Given the description of an element on the screen output the (x, y) to click on. 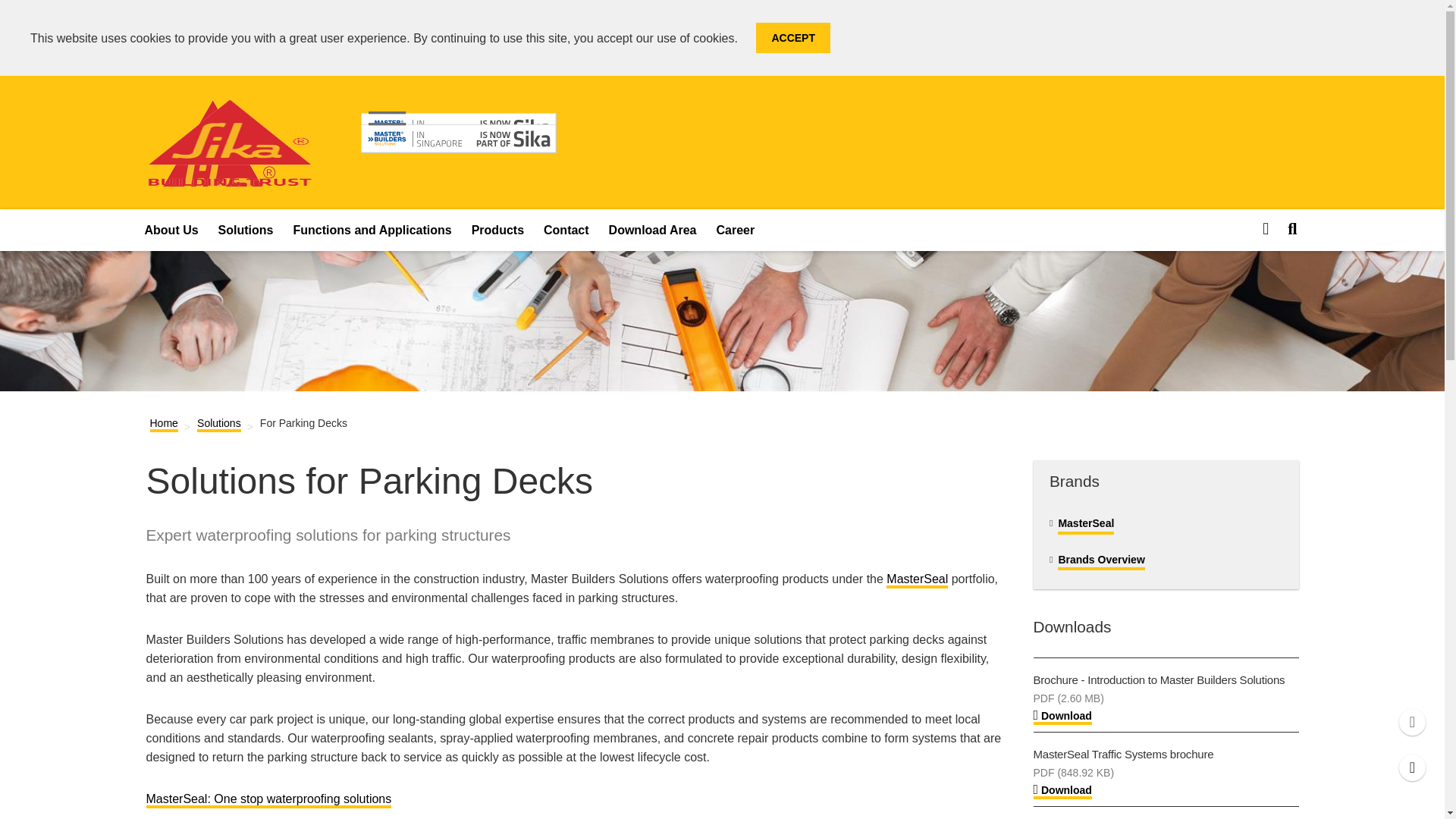
Solutions (245, 229)
Singapore (458, 130)
Functions and Applications (372, 229)
Singapore (229, 176)
ACCEPT (792, 37)
Contact (1412, 767)
About Us (171, 229)
